Given the description of an element on the screen output the (x, y) to click on. 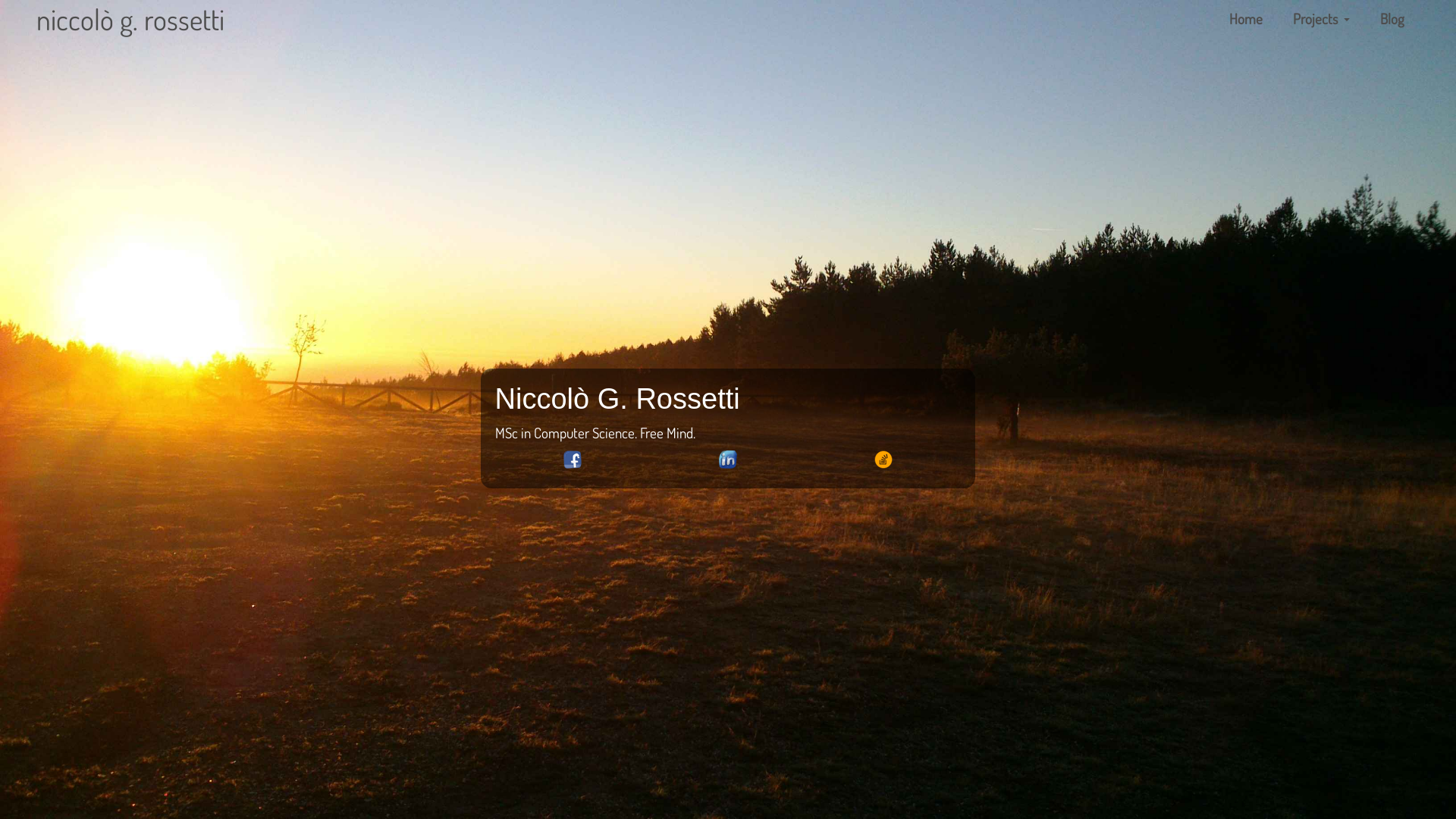
Home Element type: text (1245, 18)
Projects Element type: text (1321, 18)
Blog Element type: text (1392, 18)
